Given the description of an element on the screen output the (x, y) to click on. 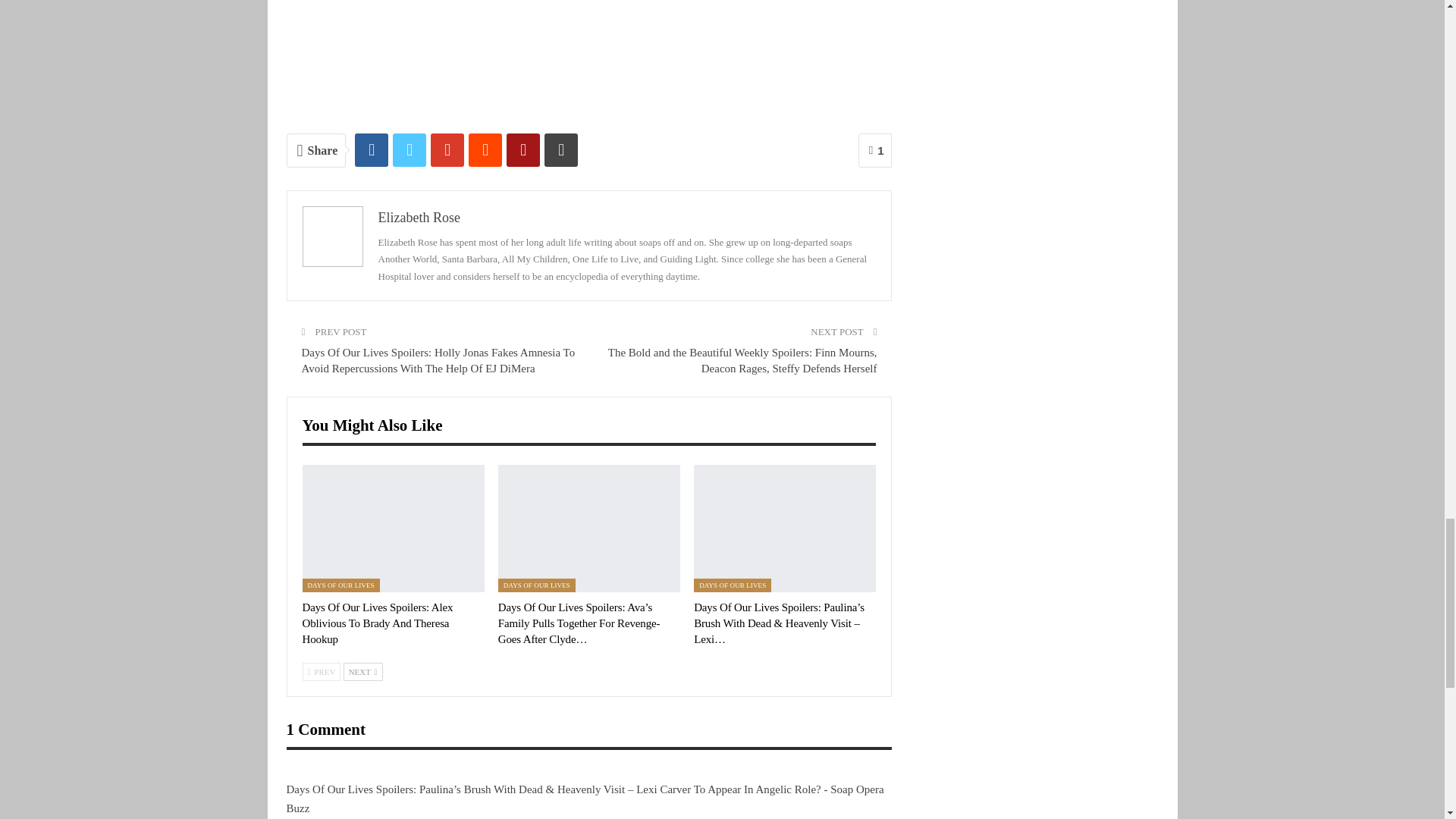
1 (875, 150)
